Given the description of an element on the screen output the (x, y) to click on. 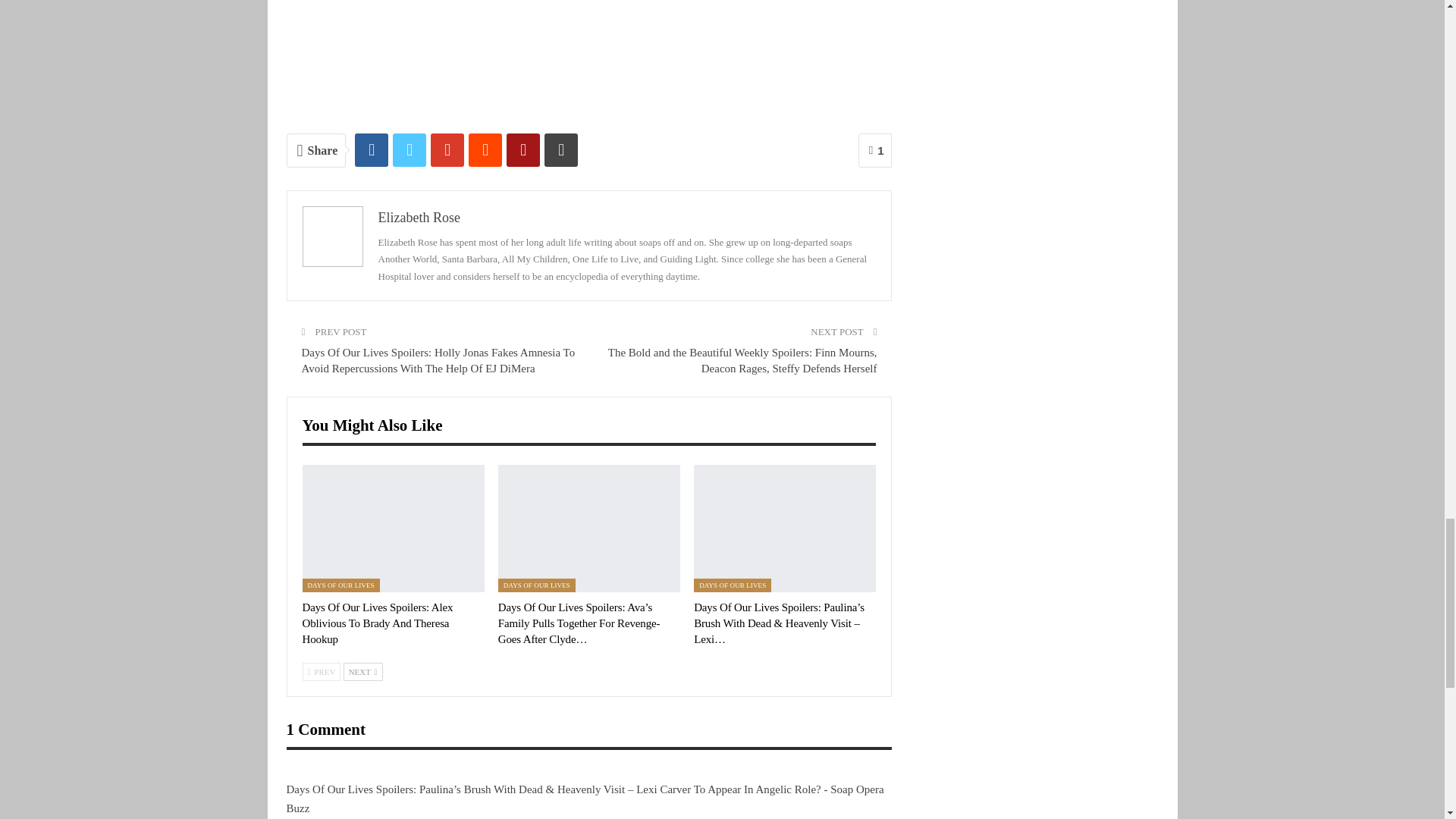
1 (875, 150)
